Given the description of an element on the screen output the (x, y) to click on. 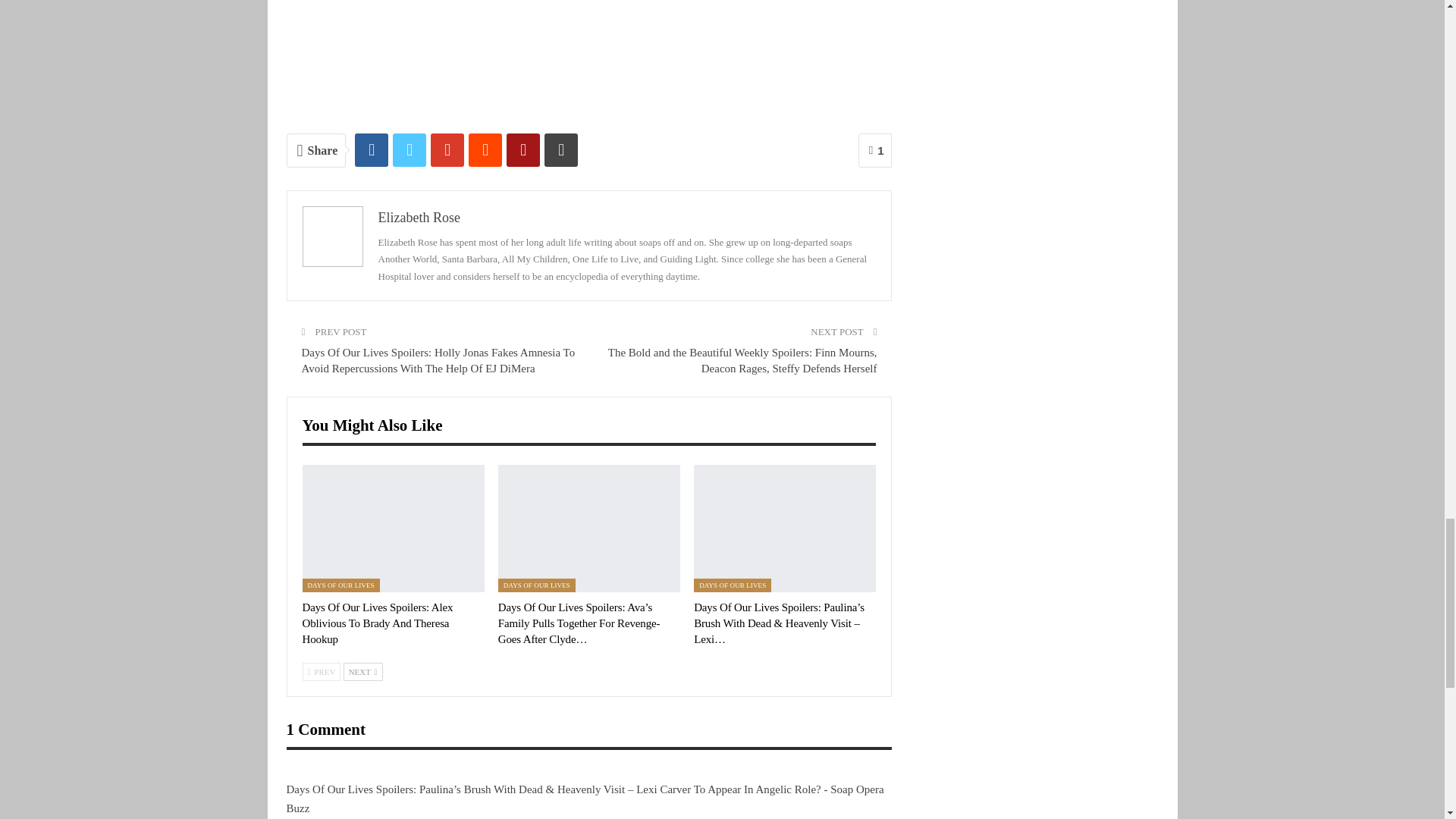
1 (875, 150)
